Given the description of an element on the screen output the (x, y) to click on. 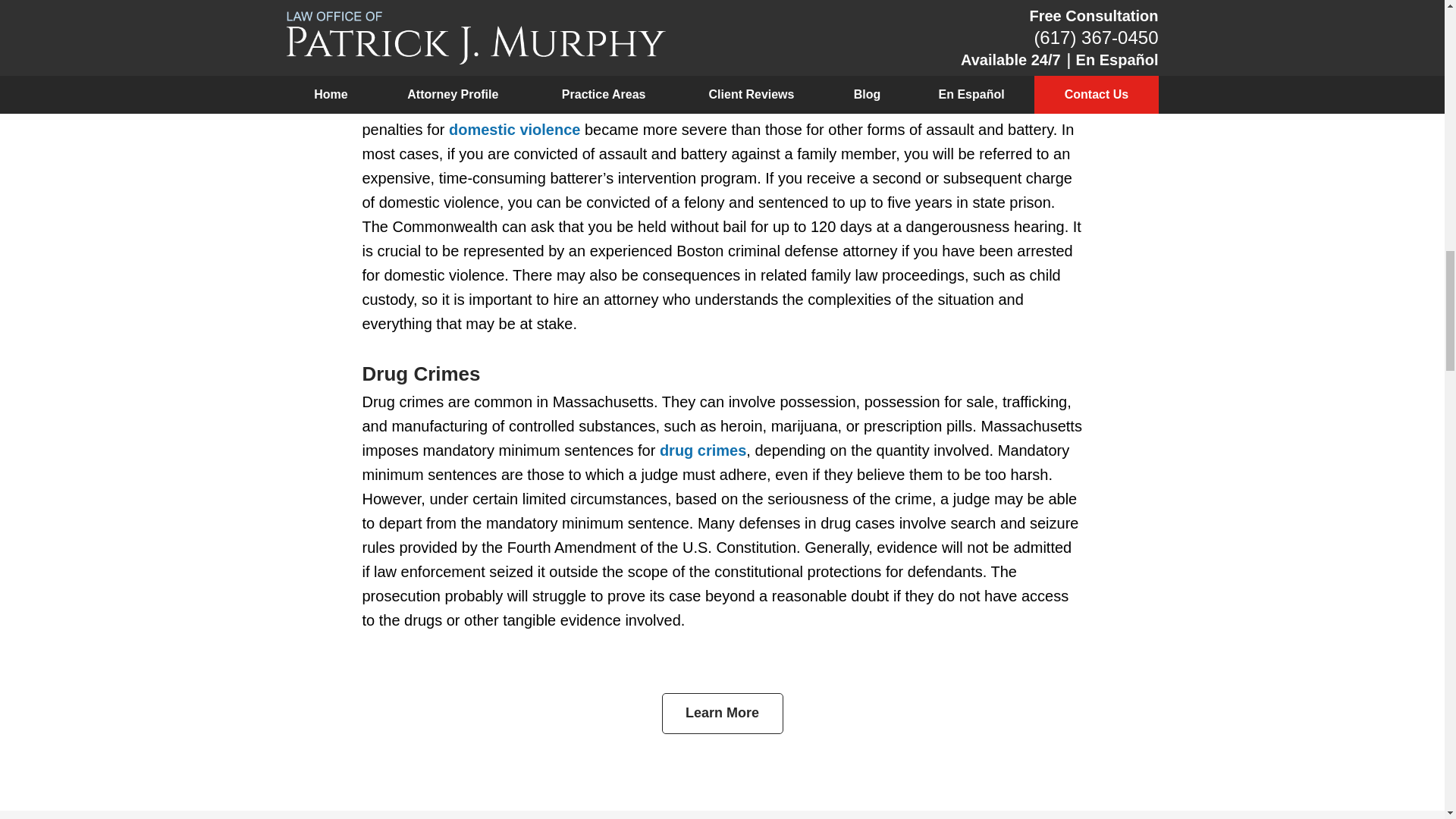
Learn More (722, 712)
drug crimes (702, 450)
domestic violence (513, 129)
